Given the description of an element on the screen output the (x, y) to click on. 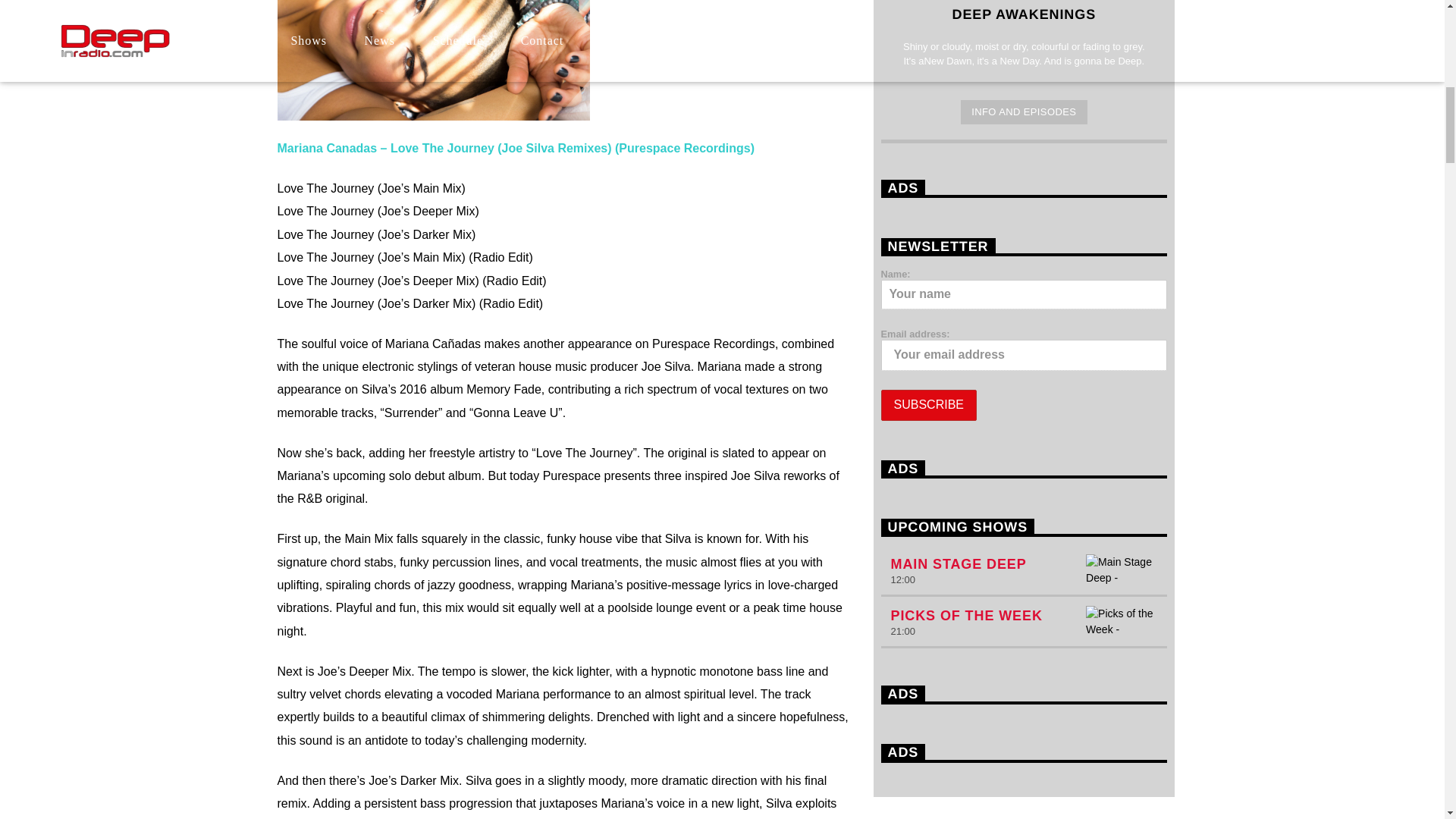
Subscribe (928, 404)
MAIN STAGE DEEP (957, 563)
INFO AND EPISODES (1023, 111)
PICKS OF THE WEEK (965, 615)
Subscribe (928, 404)
